Given the description of an element on the screen output the (x, y) to click on. 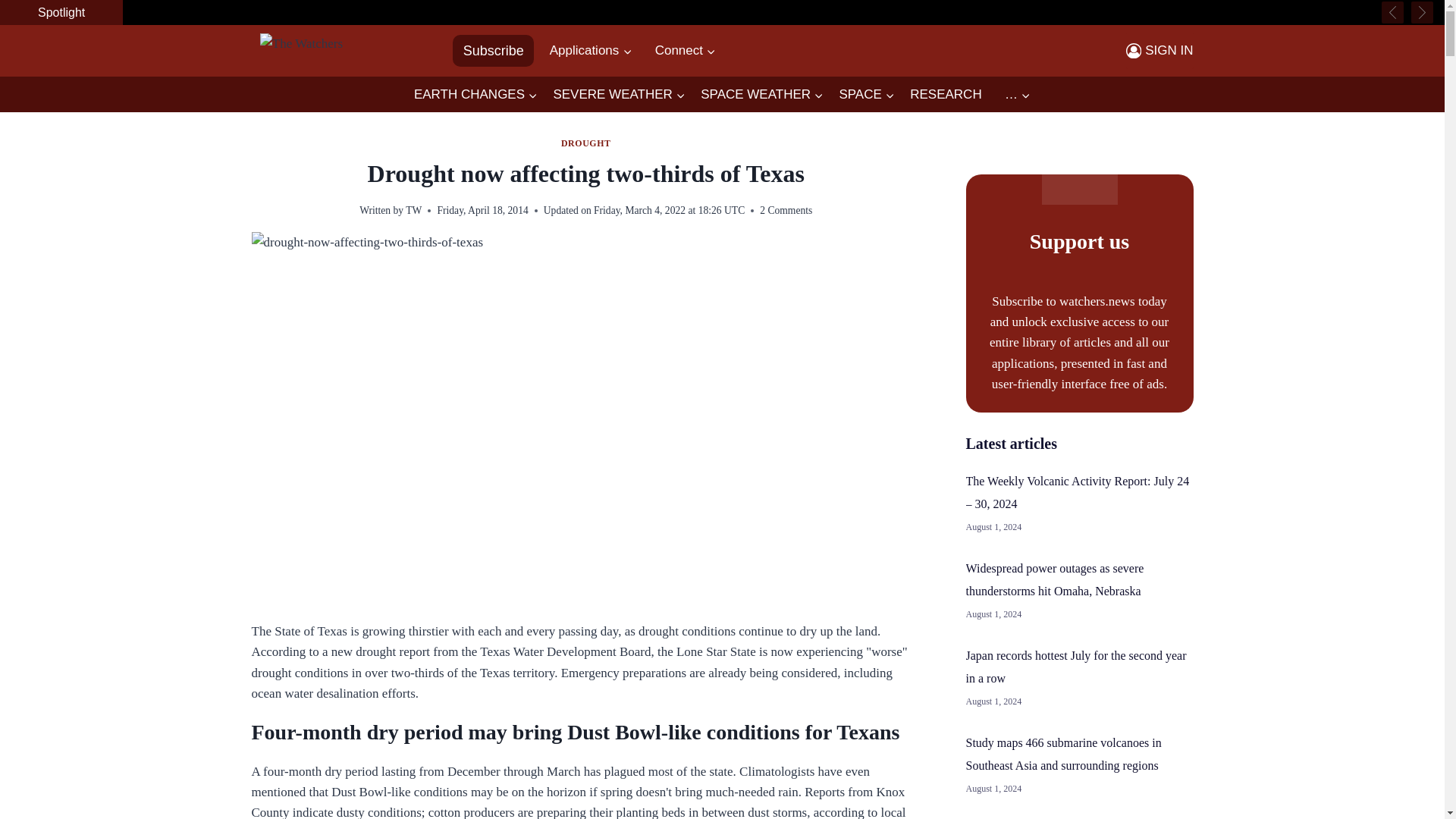
Subscribe (493, 50)
SIGN IN (1159, 50)
2 Comments (786, 210)
EARTH CHANGES (475, 94)
Applications (590, 50)
Connect (685, 50)
